Given the description of an element on the screen output the (x, y) to click on. 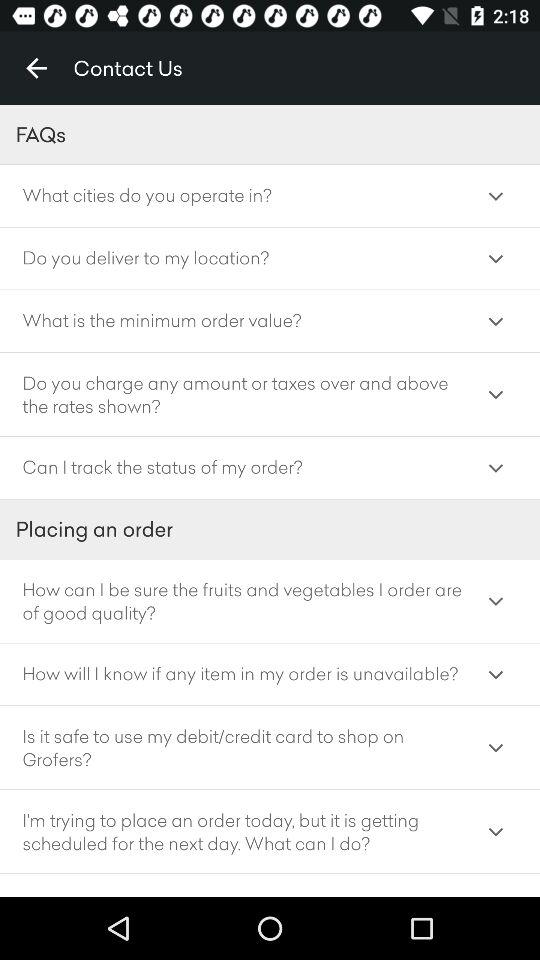
click icon above the faqs icon (36, 67)
